Given the description of an element on the screen output the (x, y) to click on. 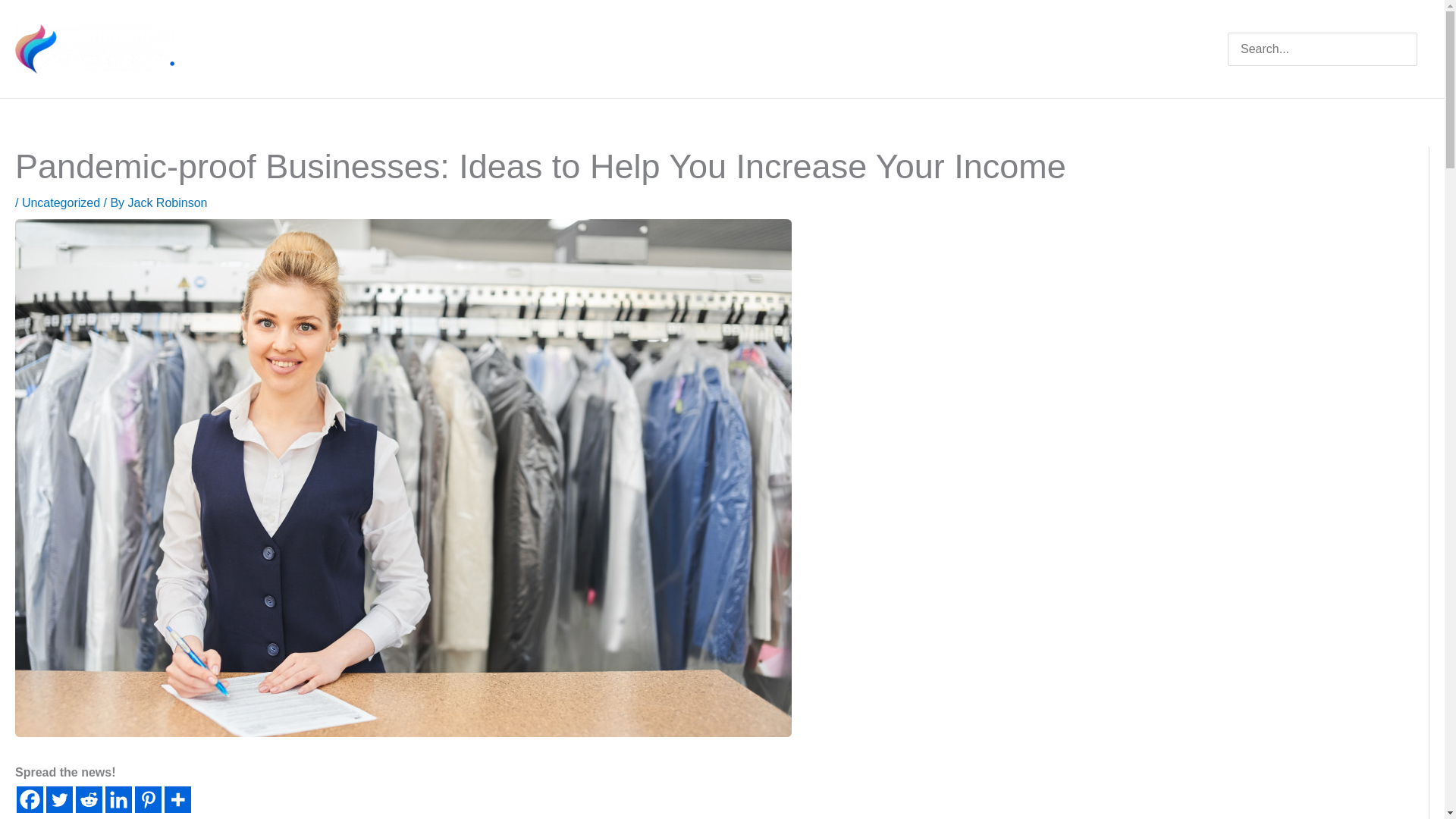
Pinterest (148, 799)
More (177, 799)
Linkedin (118, 799)
Real Estate (1088, 48)
View all posts by Jack Robinson (168, 202)
Jack Robinson (168, 202)
Reddit (88, 799)
Twitter (59, 799)
Uncategorized (60, 202)
Facebook (29, 799)
